Given the description of an element on the screen output the (x, y) to click on. 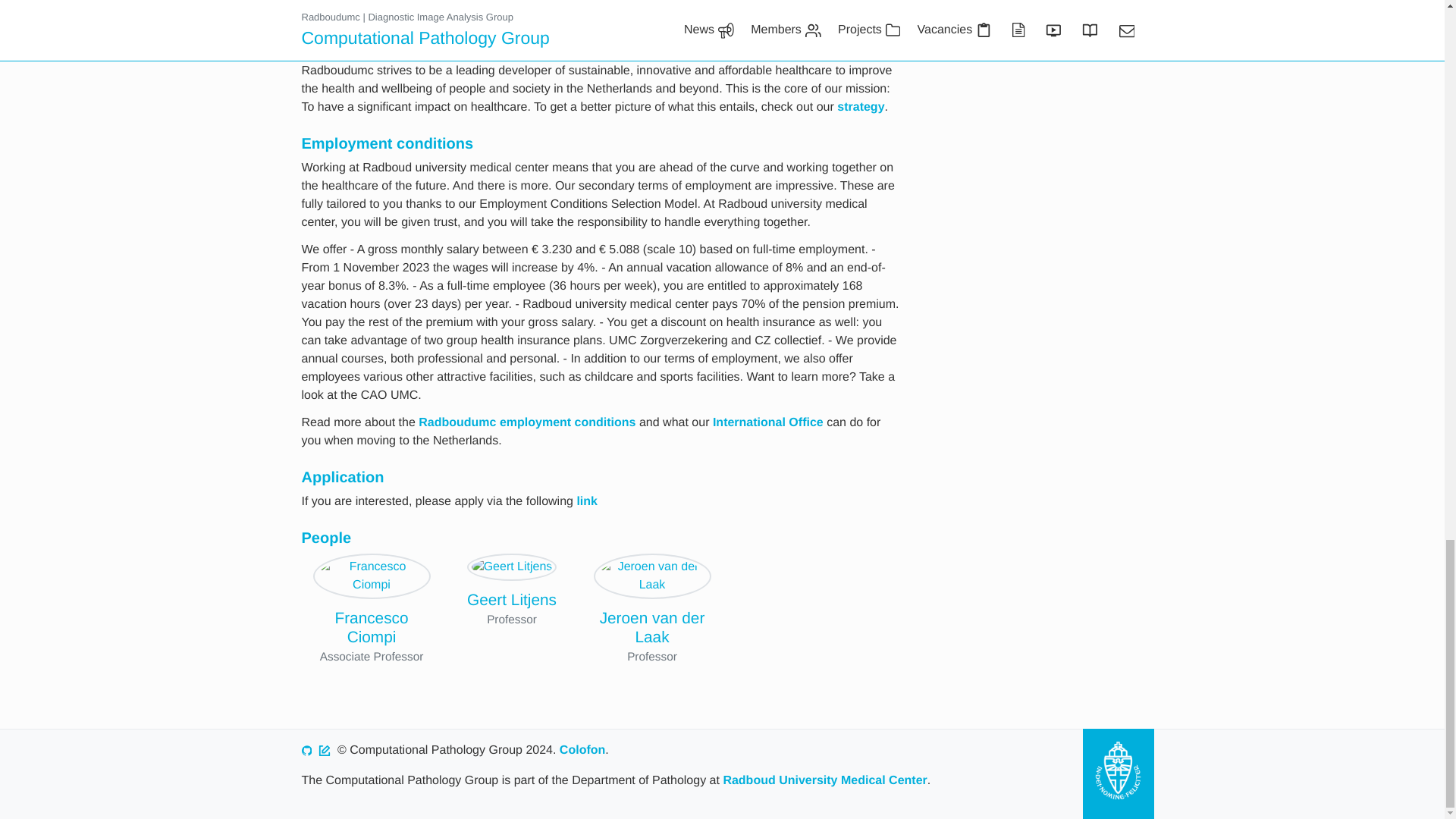
Colofon (582, 749)
link (586, 501)
Camelyon (719, 24)
Jeroen van der Laak (651, 627)
strategy (860, 106)
Radboud University Medical Center (824, 780)
Francesco Ciompi (370, 627)
Panda (794, 24)
International Office (768, 422)
Edit on Github (324, 749)
